Given the description of an element on the screen output the (x, y) to click on. 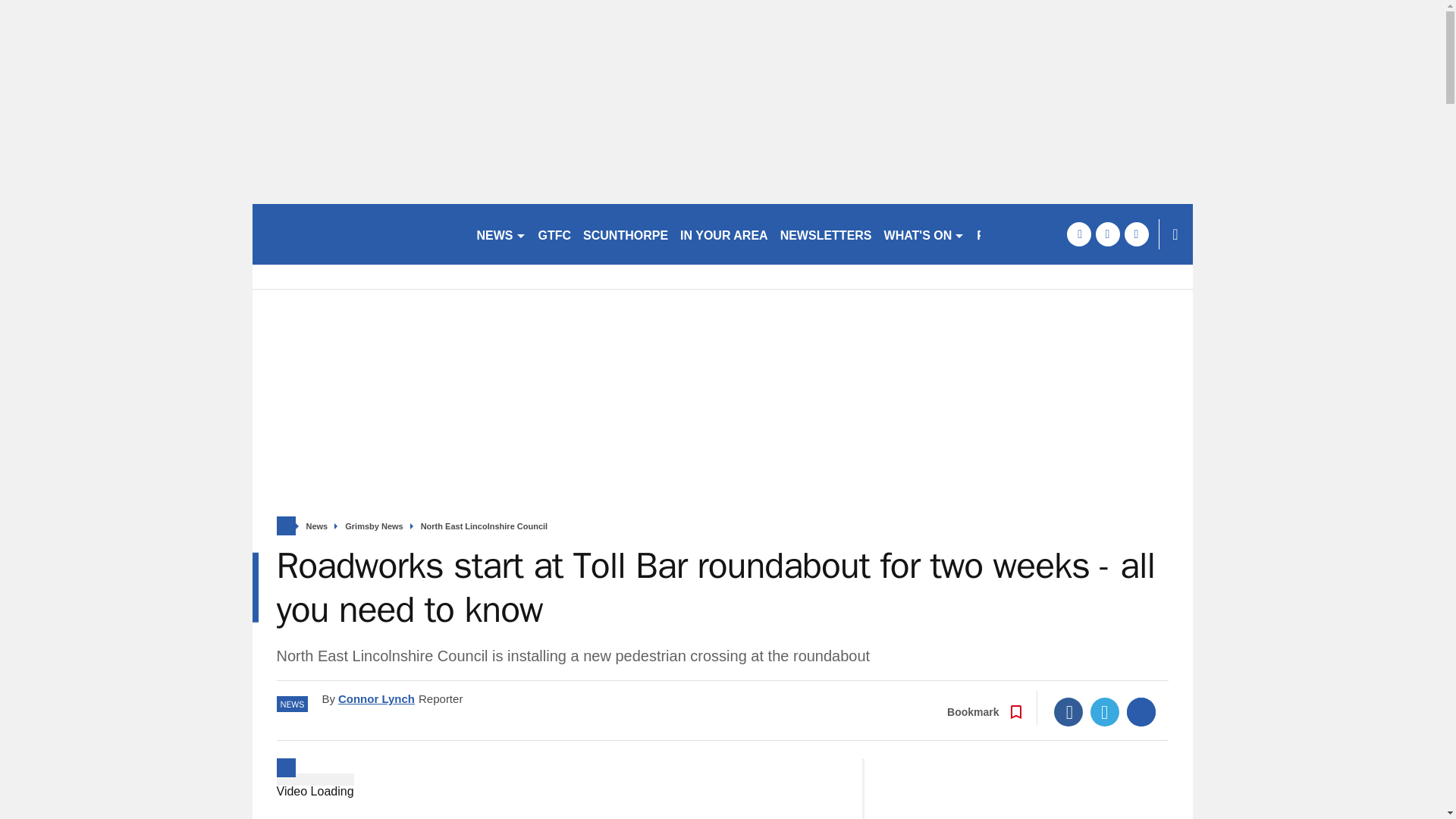
facebook (1077, 233)
WHAT'S ON (924, 233)
twitter (1106, 233)
SCUNTHORPE (625, 233)
PARTNER STORIES (1034, 233)
Facebook (1068, 711)
NEWS (500, 233)
grimsbytelegraph (357, 233)
Twitter (1104, 711)
IN YOUR AREA (724, 233)
